Given the description of an element on the screen output the (x, y) to click on. 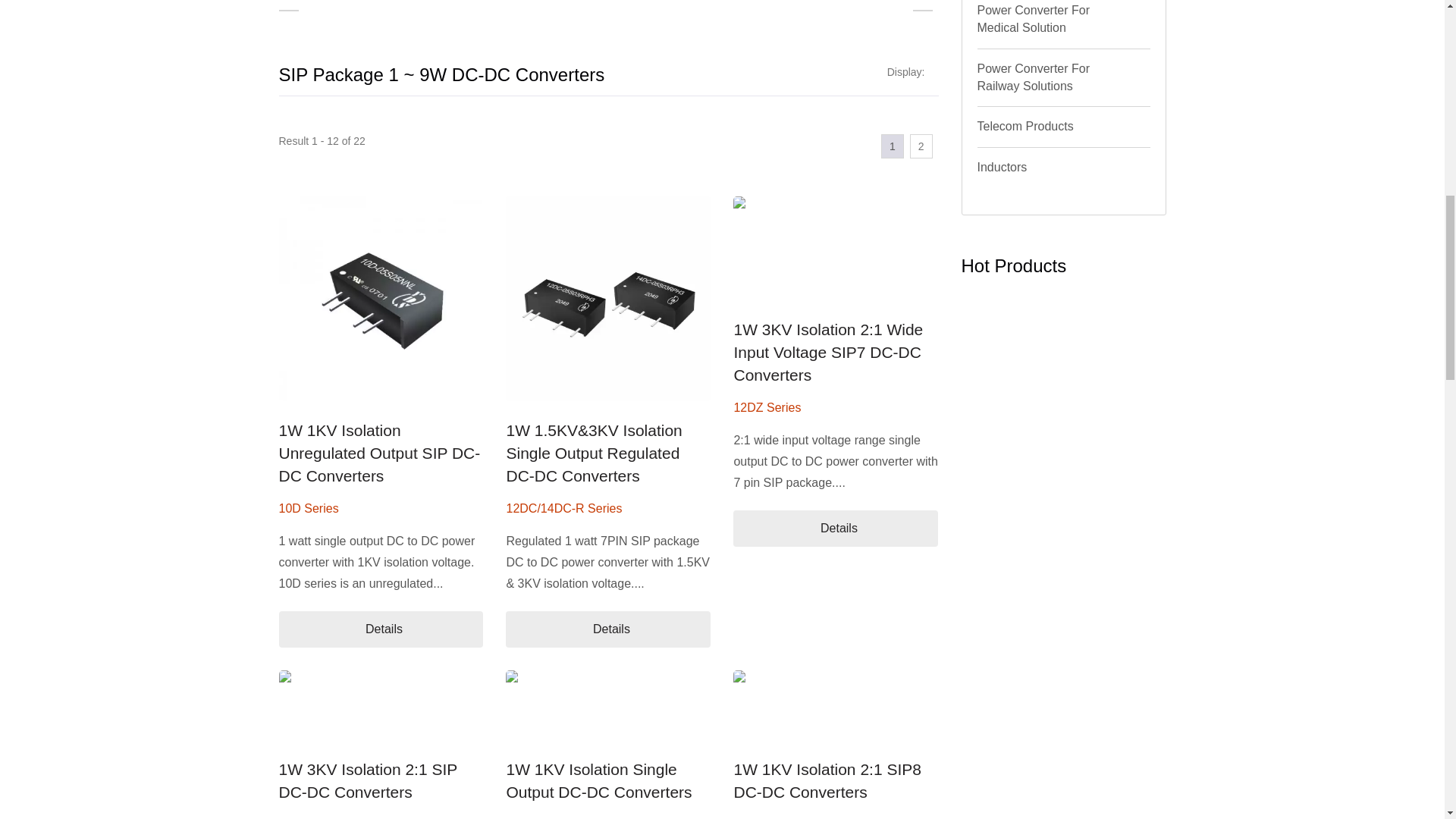
Details (835, 528)
Details (381, 628)
Details (607, 628)
